Given the description of an element on the screen output the (x, y) to click on. 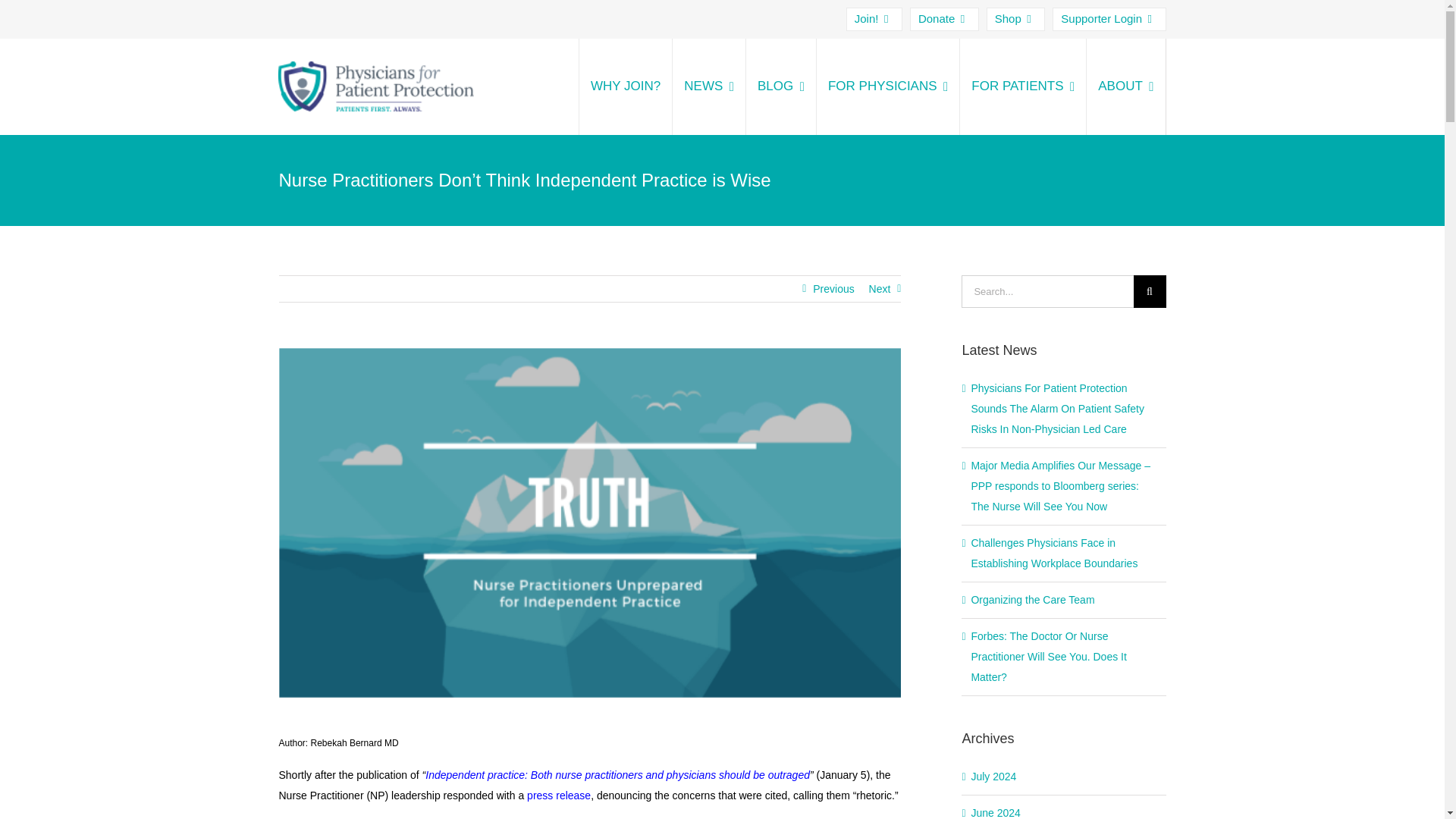
FOR PATIENTS (1022, 86)
Shop (1016, 19)
WHY JOIN? (624, 86)
Supporter Login (1109, 19)
Join! (873, 19)
FOR PHYSICIANS (887, 86)
Donate (944, 19)
